Given the description of an element on the screen output the (x, y) to click on. 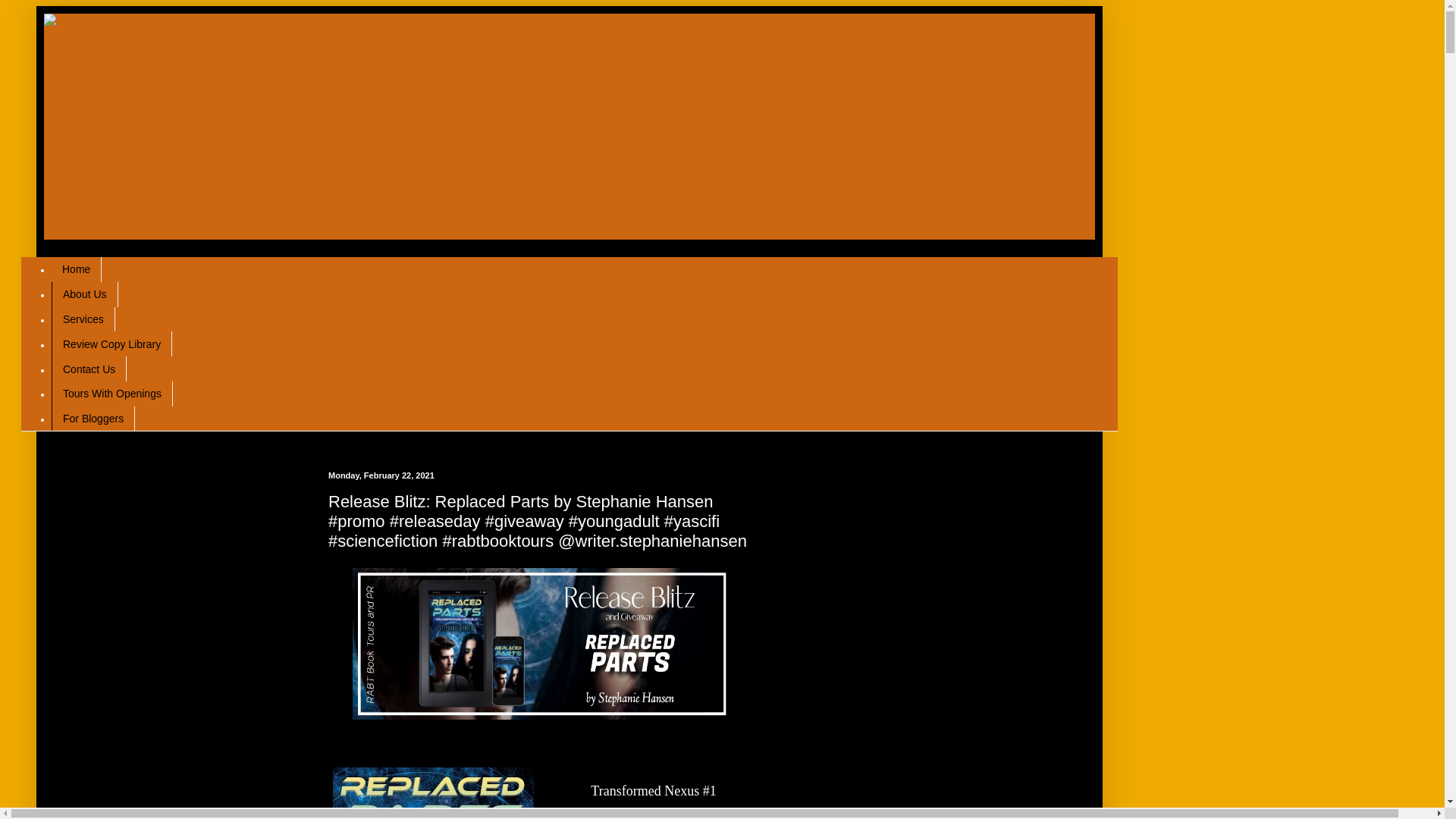
Home (75, 269)
For Bloggers (92, 418)
Tours With Openings (111, 393)
Services (82, 319)
Contact Us (88, 368)
Review Copy Library (110, 343)
About Us (83, 294)
